Given the description of an element on the screen output the (x, y) to click on. 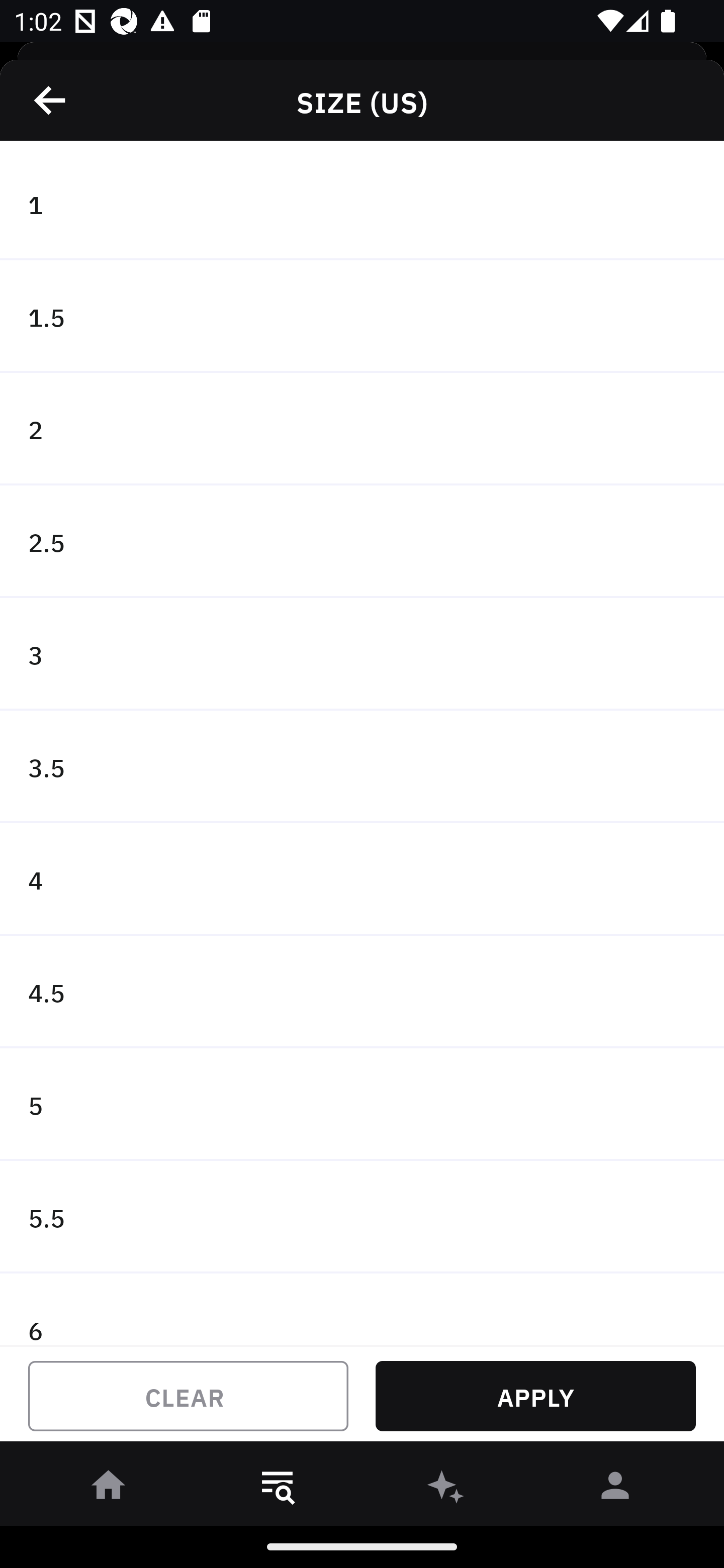
 (50, 100)
1 (362, 203)
1.5 (362, 316)
2 (362, 429)
2.5 (362, 541)
3 (362, 653)
3.5 (362, 766)
4 (362, 879)
4.5 (362, 992)
5 (362, 1104)
5.5 (362, 1216)
6 (362, 1309)
CLEAR  (188, 1396)
APPLY (535, 1396)
󰋜 (108, 1488)
󱎸 (277, 1488)
󰫢 (446, 1488)
󰀄 (615, 1488)
